Given the description of an element on the screen output the (x, y) to click on. 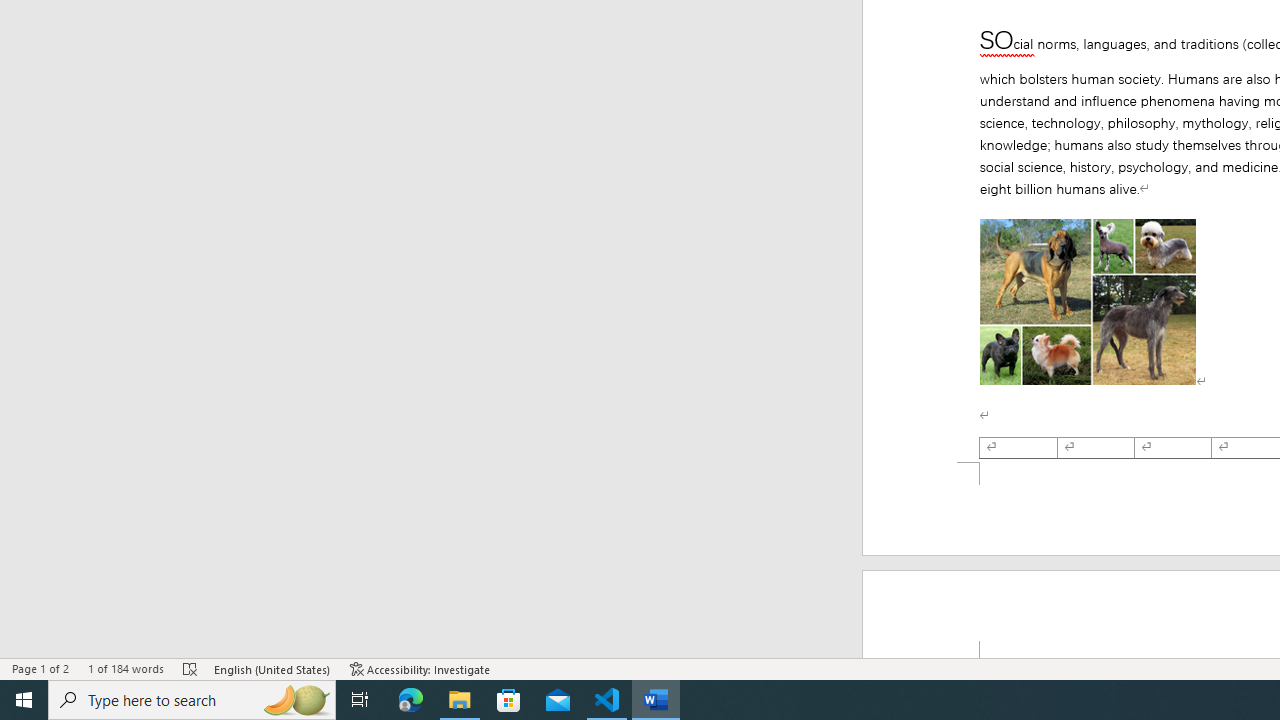
Page Number Page 1 of 2 (39, 668)
Word - 1 running window (656, 699)
